Given the description of an element on the screen output the (x, y) to click on. 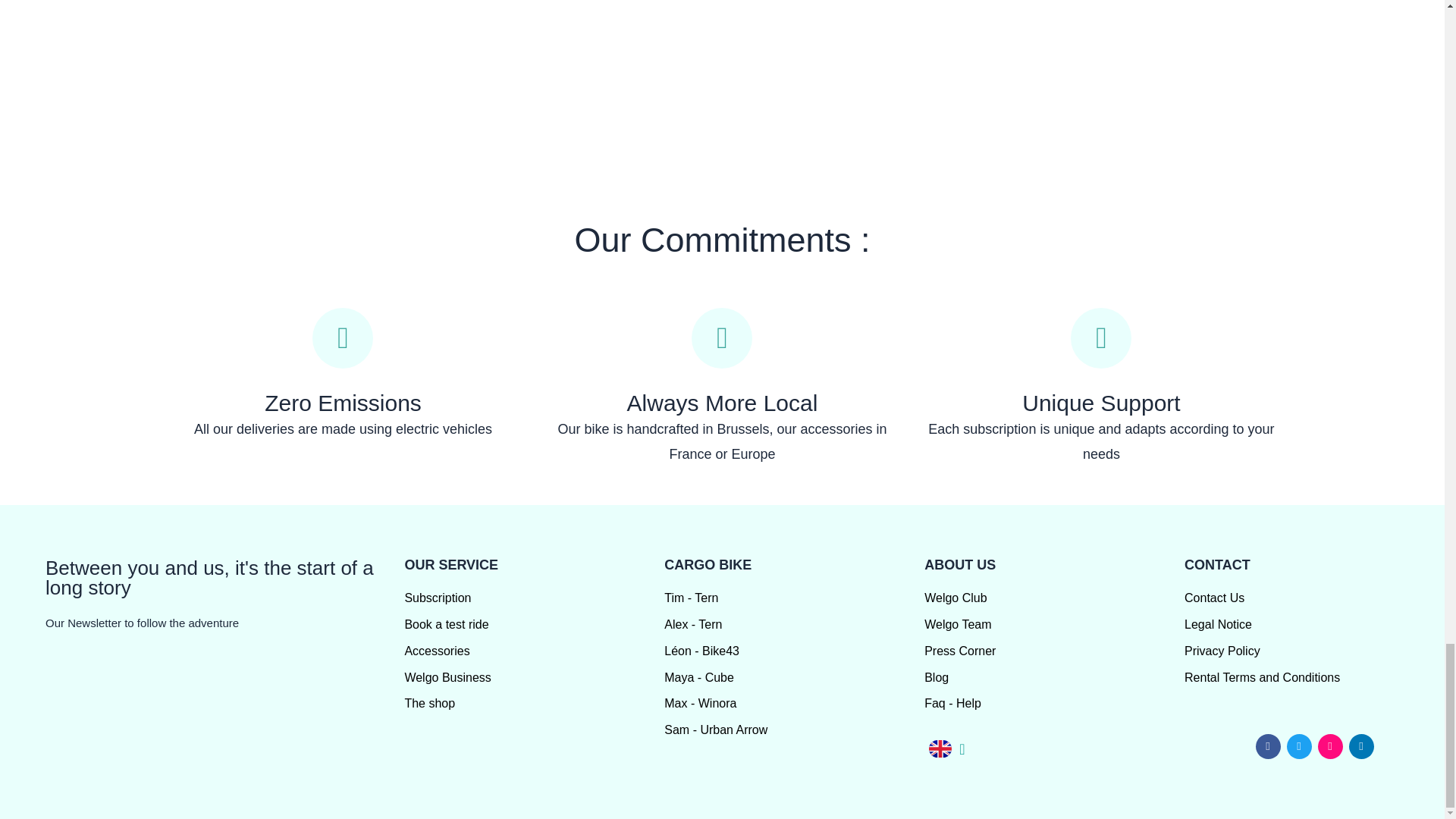
Accessories (533, 650)
The shop (533, 703)
Alex - Tern (793, 624)
Tim - Tern (793, 598)
Newsletter (216, 697)
Book a test ride (533, 624)
Unique Support (1100, 402)
Welgo Business (533, 677)
Subscription (533, 598)
Always More Local (722, 402)
